Given the description of an element on the screen output the (x, y) to click on. 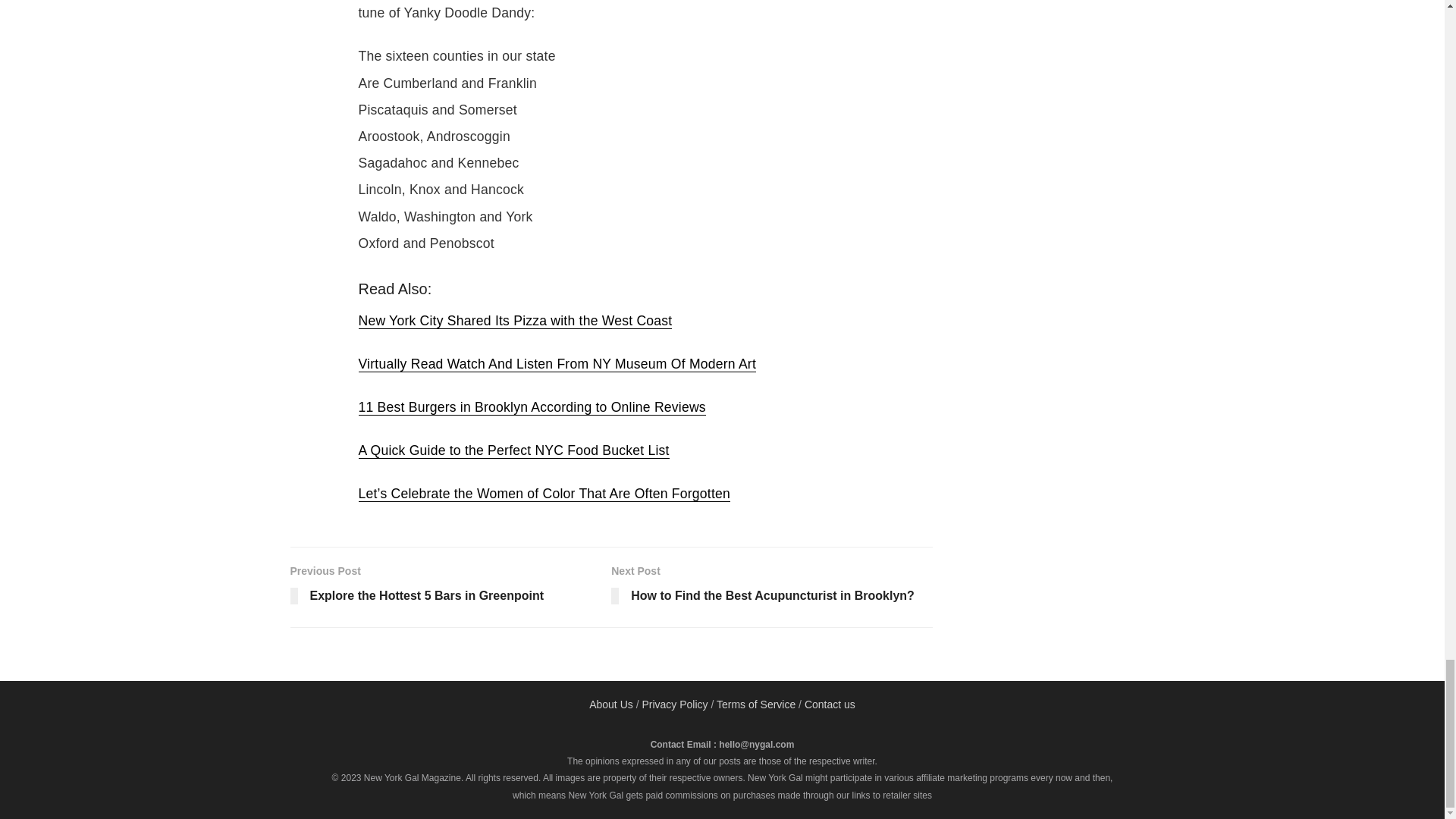
Virtually Read Watch And Listen From NY Museum Of Modern Art (772, 586)
11 Best Burgers in Brooklyn According to Online Reviews (556, 364)
New York City Shared Its Pizza with the West Coast (450, 586)
A Quick Guide to the Perfect NYC Food Bucket List (531, 407)
